Given the description of an element on the screen output the (x, y) to click on. 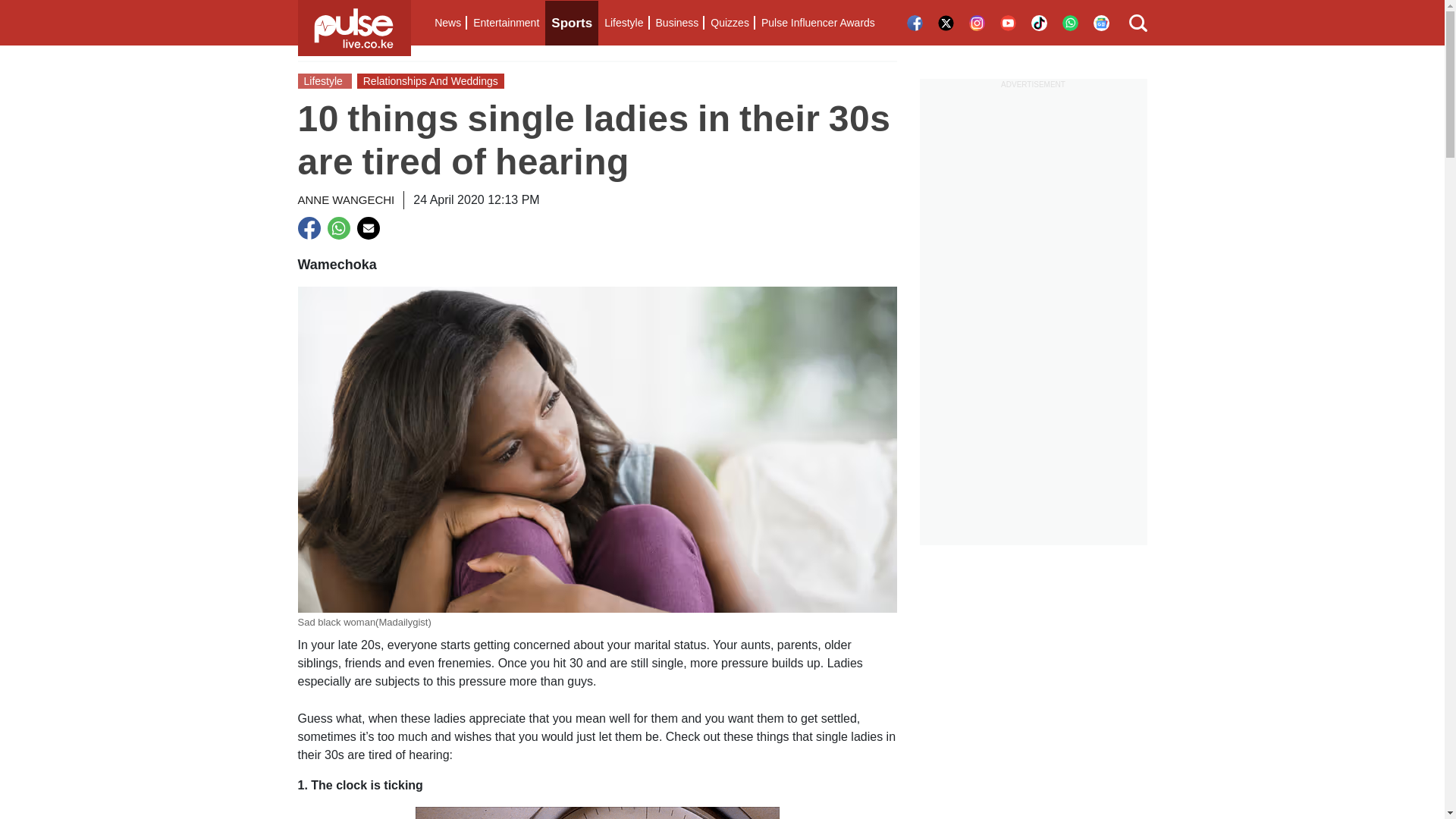
Business (676, 22)
Sports (571, 22)
Lifestyle (623, 22)
Quizzes (729, 22)
Pulse Influencer Awards (817, 22)
Entertainment (505, 22)
